Given the description of an element on the screen output the (x, y) to click on. 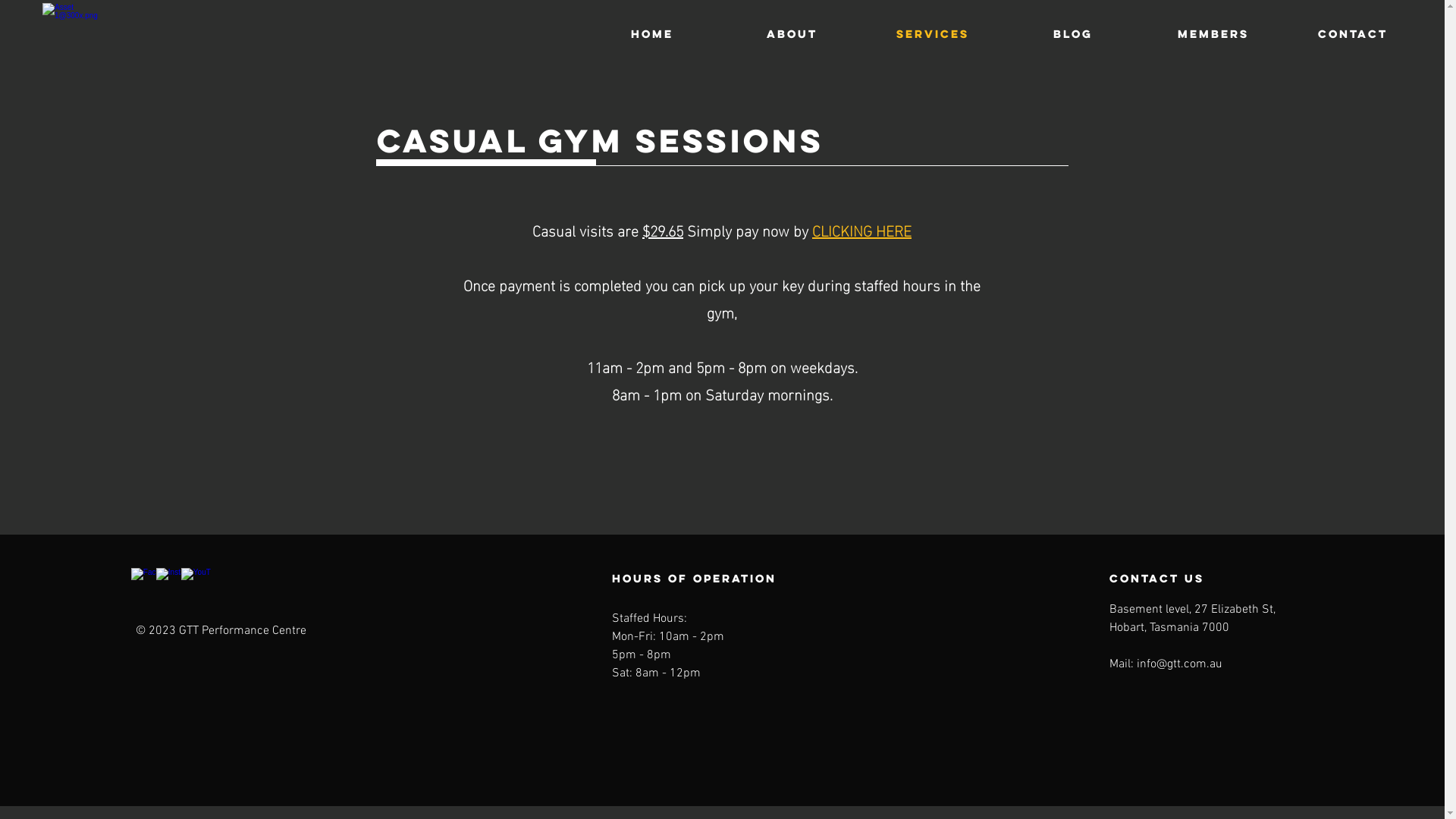
info@gtt.com.au Element type: text (1179, 663)
SERVICES Element type: text (932, 34)
ABOUT Element type: text (791, 34)
CONTACT Element type: text (1352, 34)
CLICKING HERE Element type: text (861, 228)
HOME Element type: text (651, 34)
Members Element type: text (1212, 34)
Blog Element type: text (1072, 34)
